Given the description of an element on the screen output the (x, y) to click on. 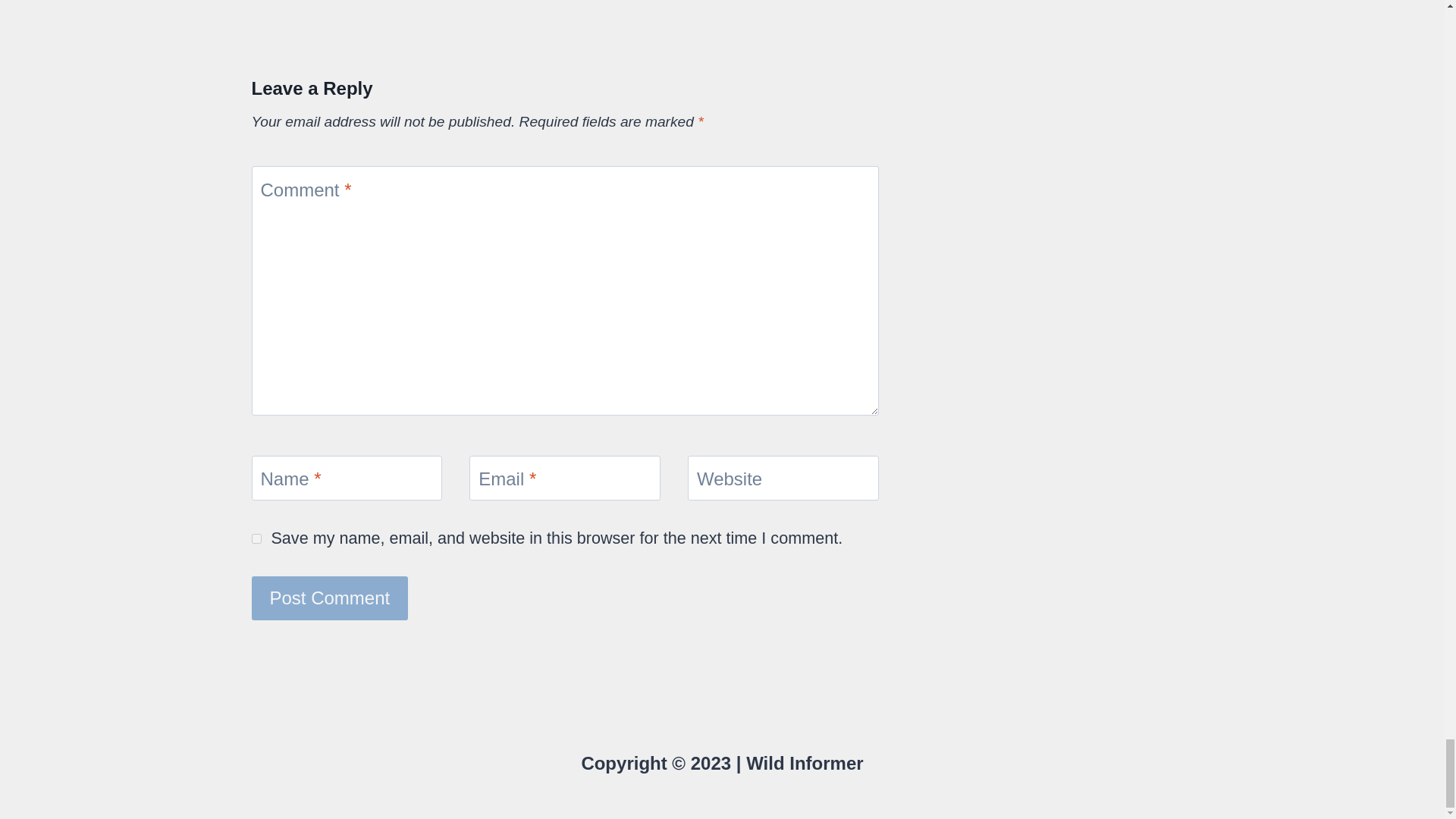
yes (256, 538)
Post Comment (330, 597)
